Given the description of an element on the screen output the (x, y) to click on. 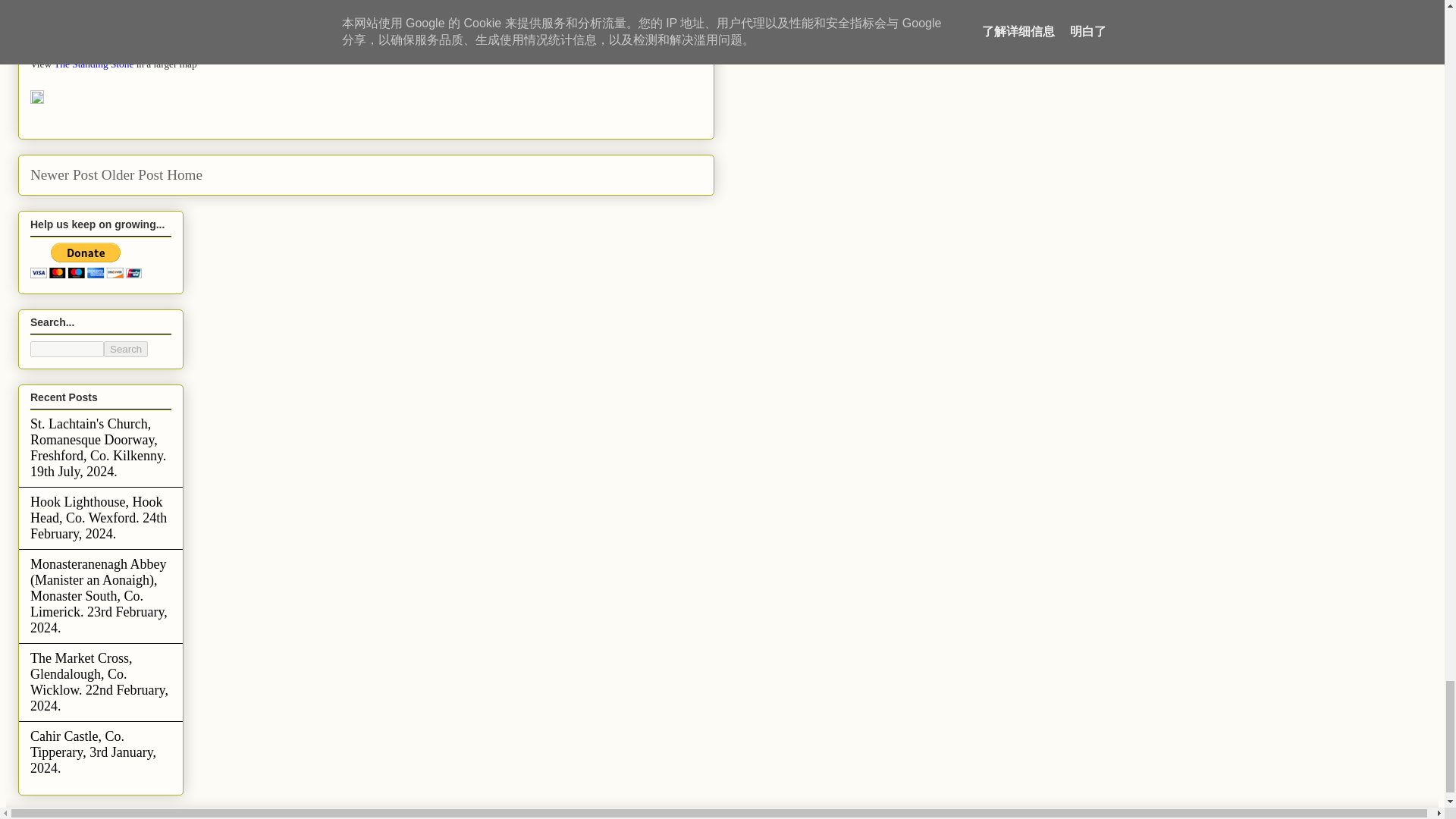
search (66, 349)
Older Post (132, 174)
Older Post (132, 174)
Edit Post (36, 99)
The Standing Stone (93, 63)
search (125, 349)
Search (125, 349)
Search (125, 349)
Newer Post (63, 174)
Newer Post (63, 174)
